Given the description of an element on the screen output the (x, y) to click on. 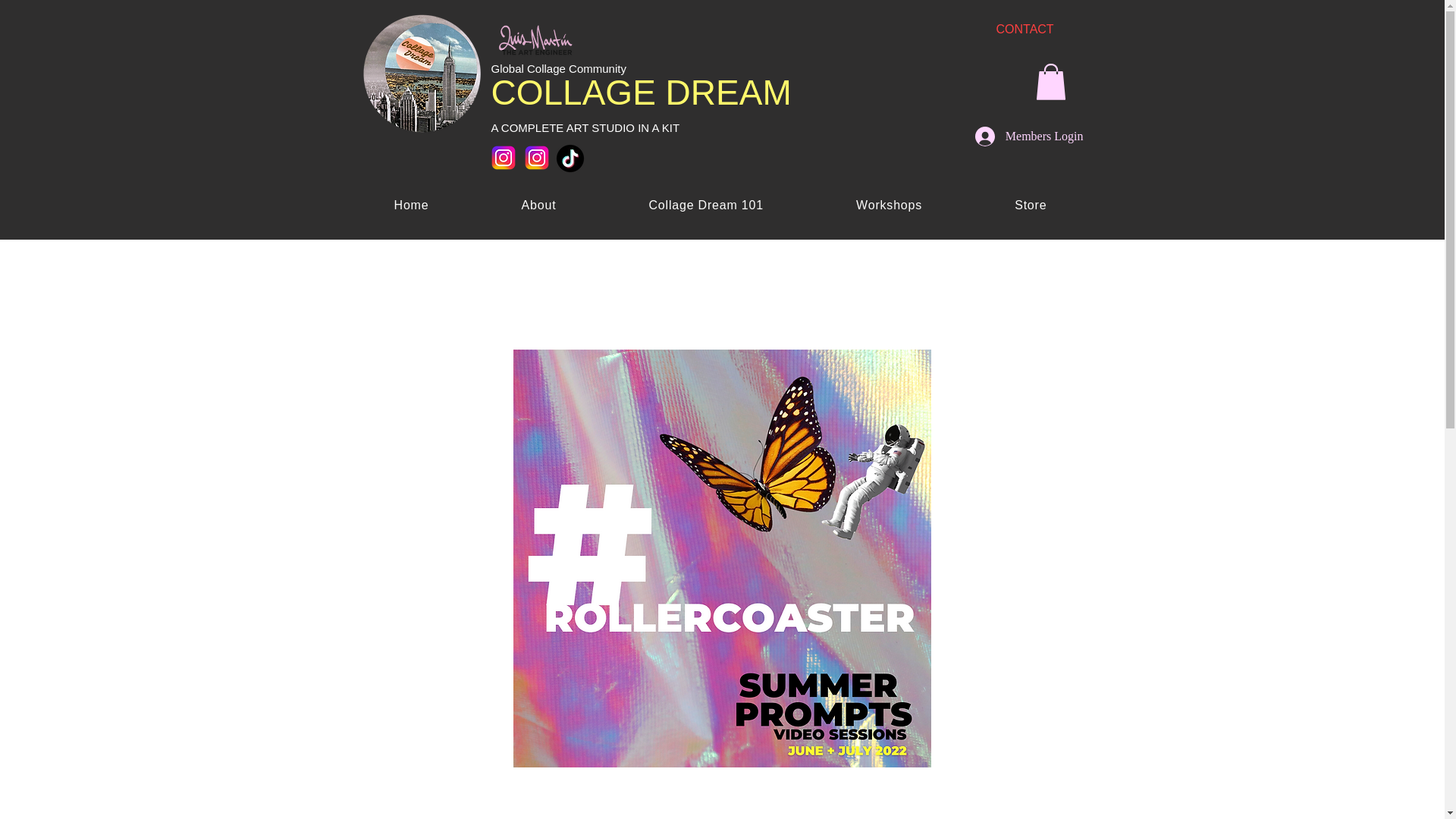
CONTACT (1024, 29)
Members Login (1028, 136)
Collage Dream 101 (705, 205)
About (539, 205)
Store (1030, 205)
Home (410, 205)
Workshops (888, 205)
